Given the description of an element on the screen output the (x, y) to click on. 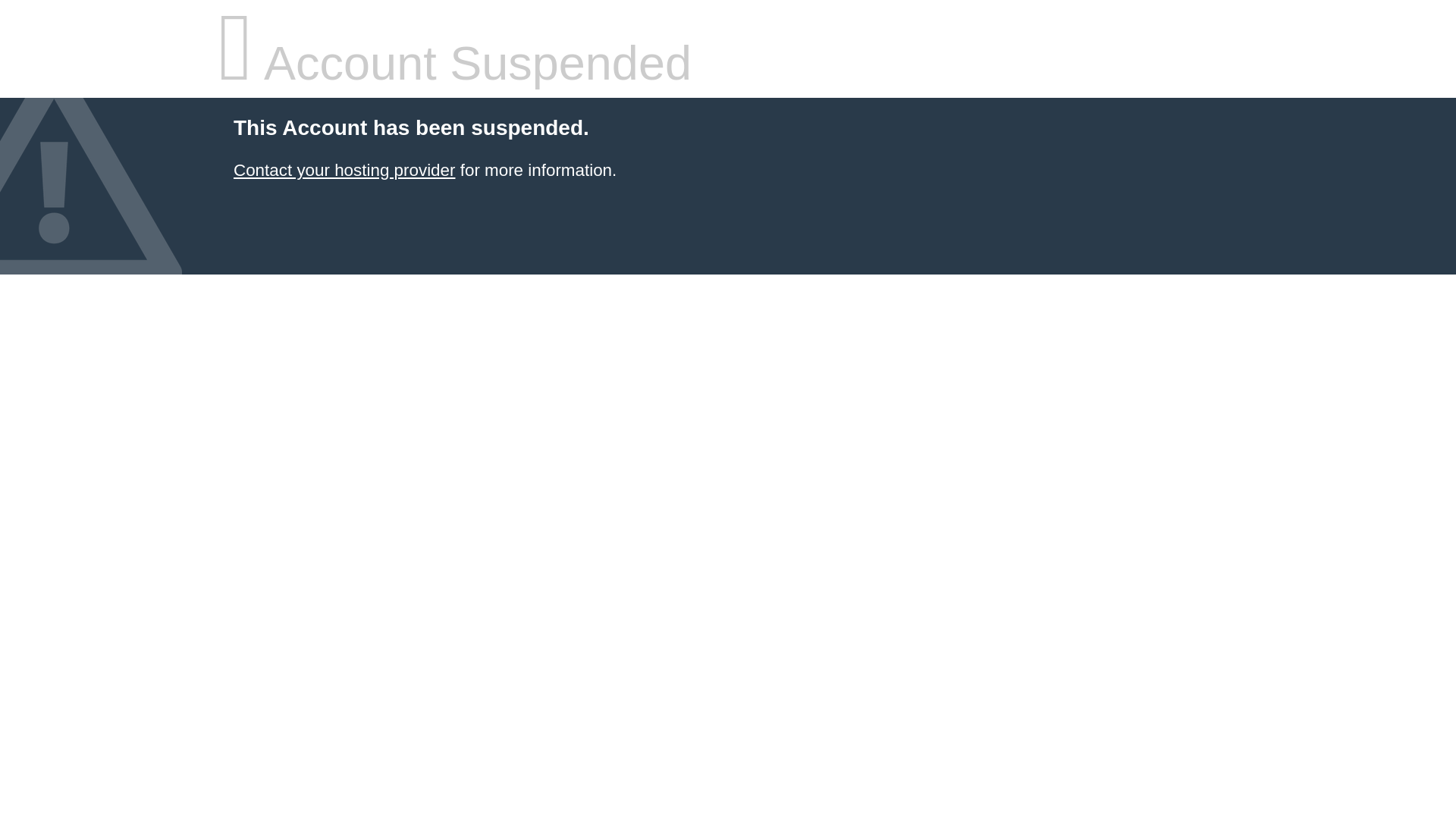
Contact your hosting provider (343, 169)
